Given the description of an element on the screen output the (x, y) to click on. 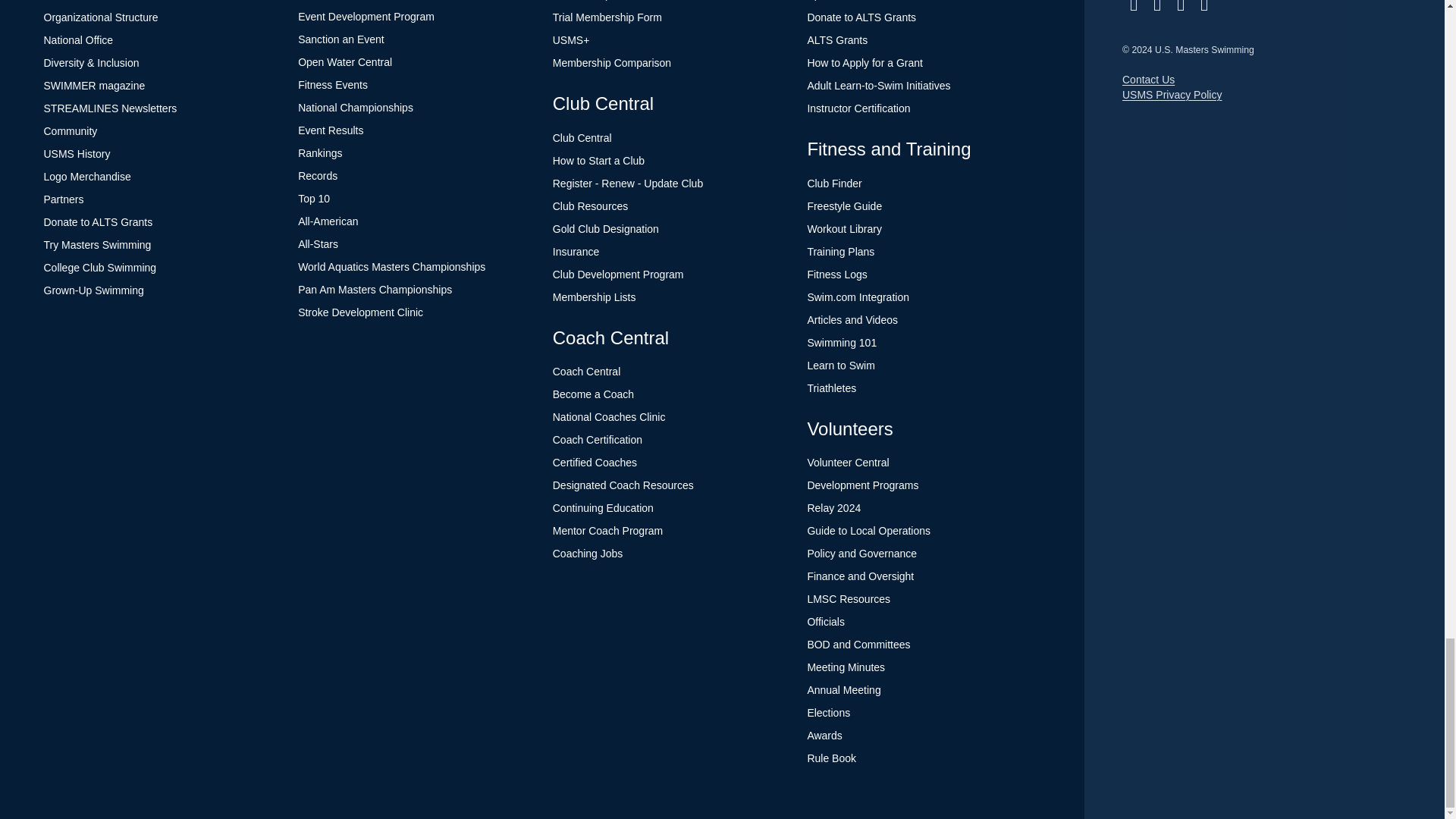
Donate to ALTS Grants (97, 222)
Organizational Structure (100, 17)
Logo Merchandise (87, 176)
Grown-Up Swimming (93, 290)
STREAMLINES Newsletters (110, 108)
Event Development Program (365, 16)
USMS History (76, 153)
Community (70, 131)
SWIMMER magazine (94, 85)
